Given the description of an element on the screen output the (x, y) to click on. 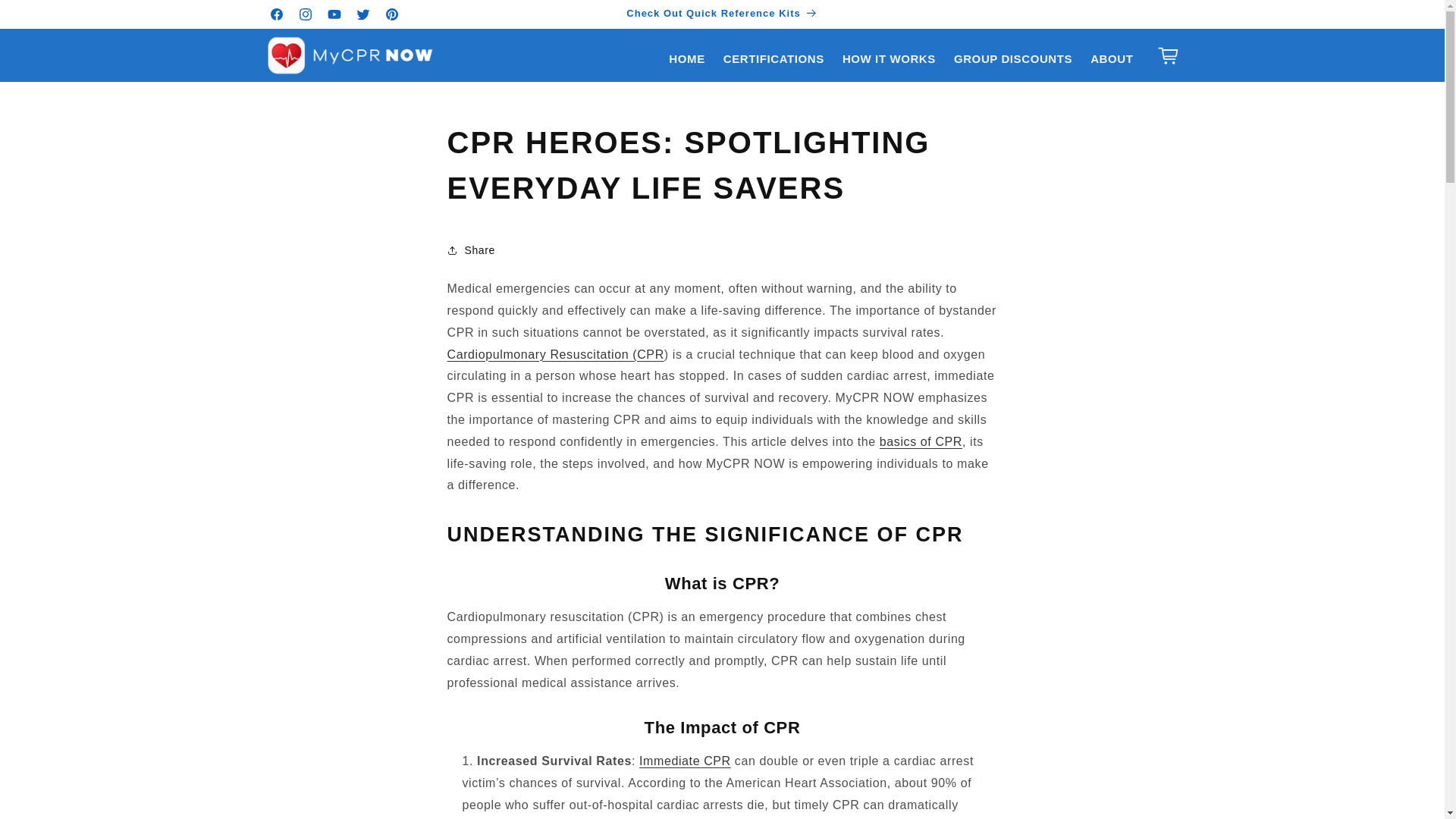
HOW IT WORKS (888, 59)
GROUP DISCOUNTS (1012, 59)
Pinterest (391, 14)
Skip to content (45, 17)
CERTIFICATIONS (773, 59)
Cart (1168, 55)
ABOUT (1111, 59)
Instagram (305, 14)
Facebook (276, 14)
Immediate CPR (684, 760)
